Given the description of an element on the screen output the (x, y) to click on. 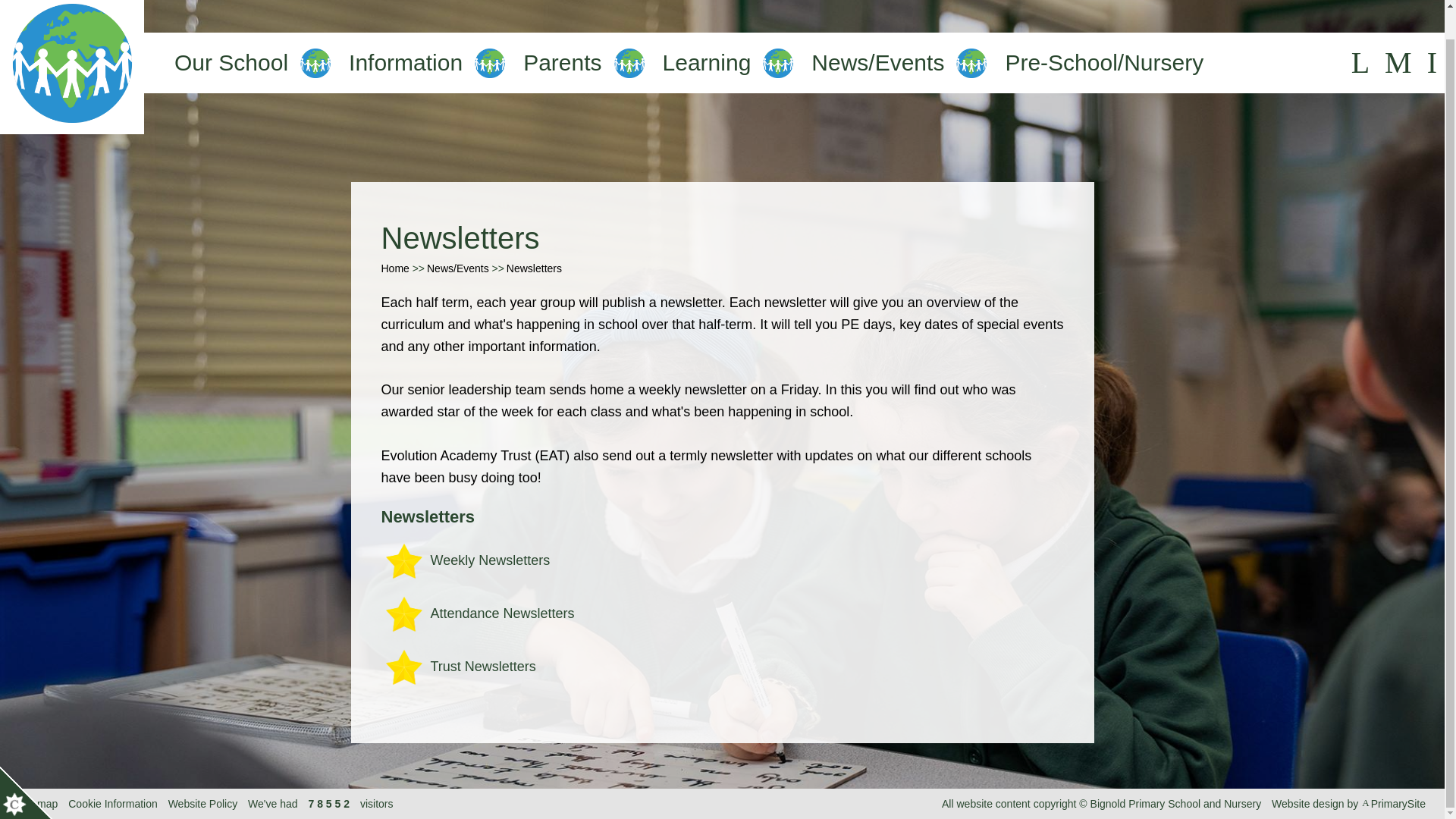
Parents (561, 62)
Our School (231, 62)
Home Page (72, 67)
Information (406, 62)
